Given the description of an element on the screen output the (x, y) to click on. 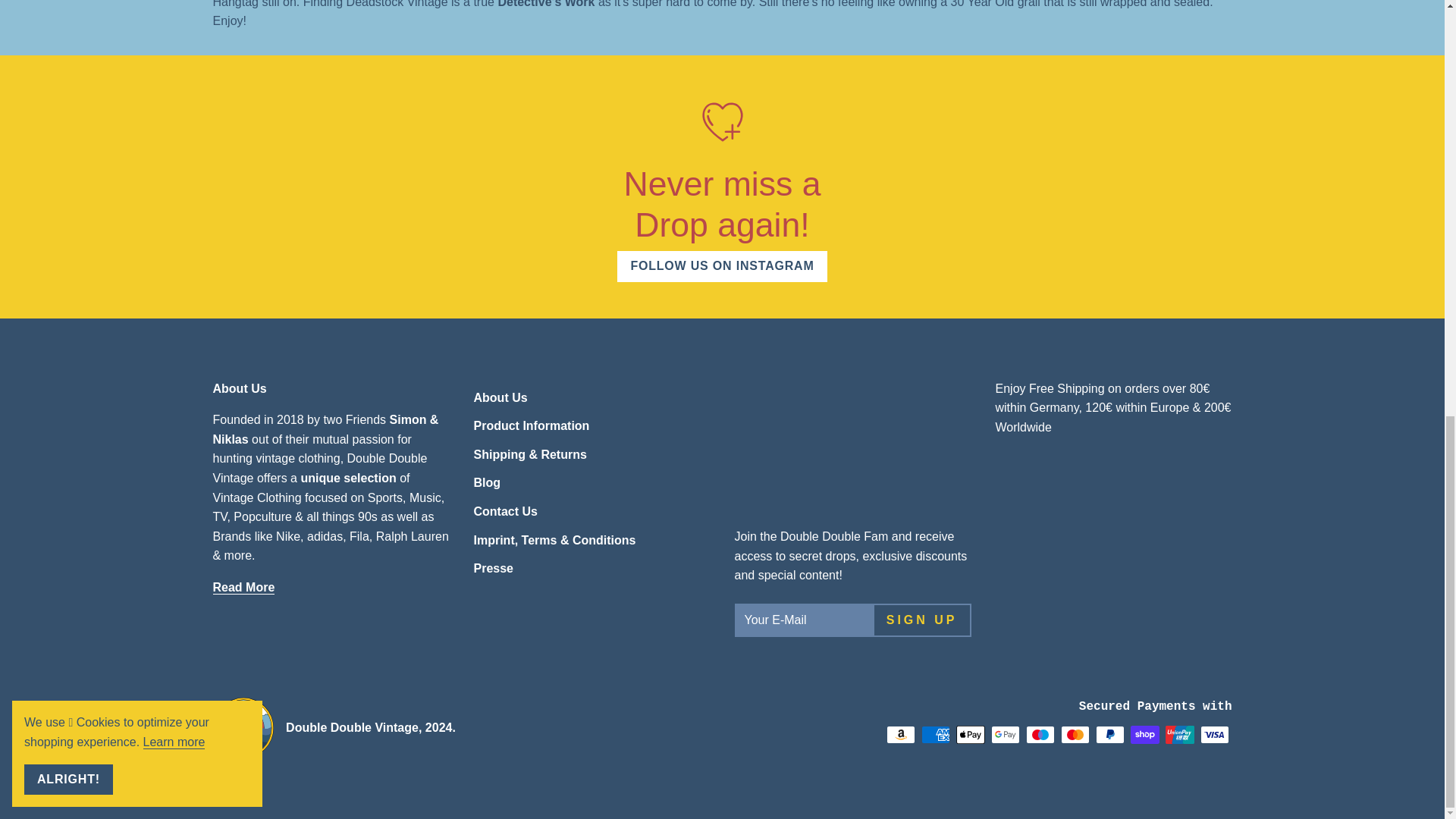
Shop Pay (1143, 734)
Union Pay (1178, 734)
Maestro (1039, 734)
PayPal (1109, 734)
Google Pay (1004, 734)
Apple Pay (969, 734)
American Express (934, 734)
Visa (1213, 734)
Amazon (899, 734)
Mastercard (1074, 734)
